Given the description of an element on the screen output the (x, y) to click on. 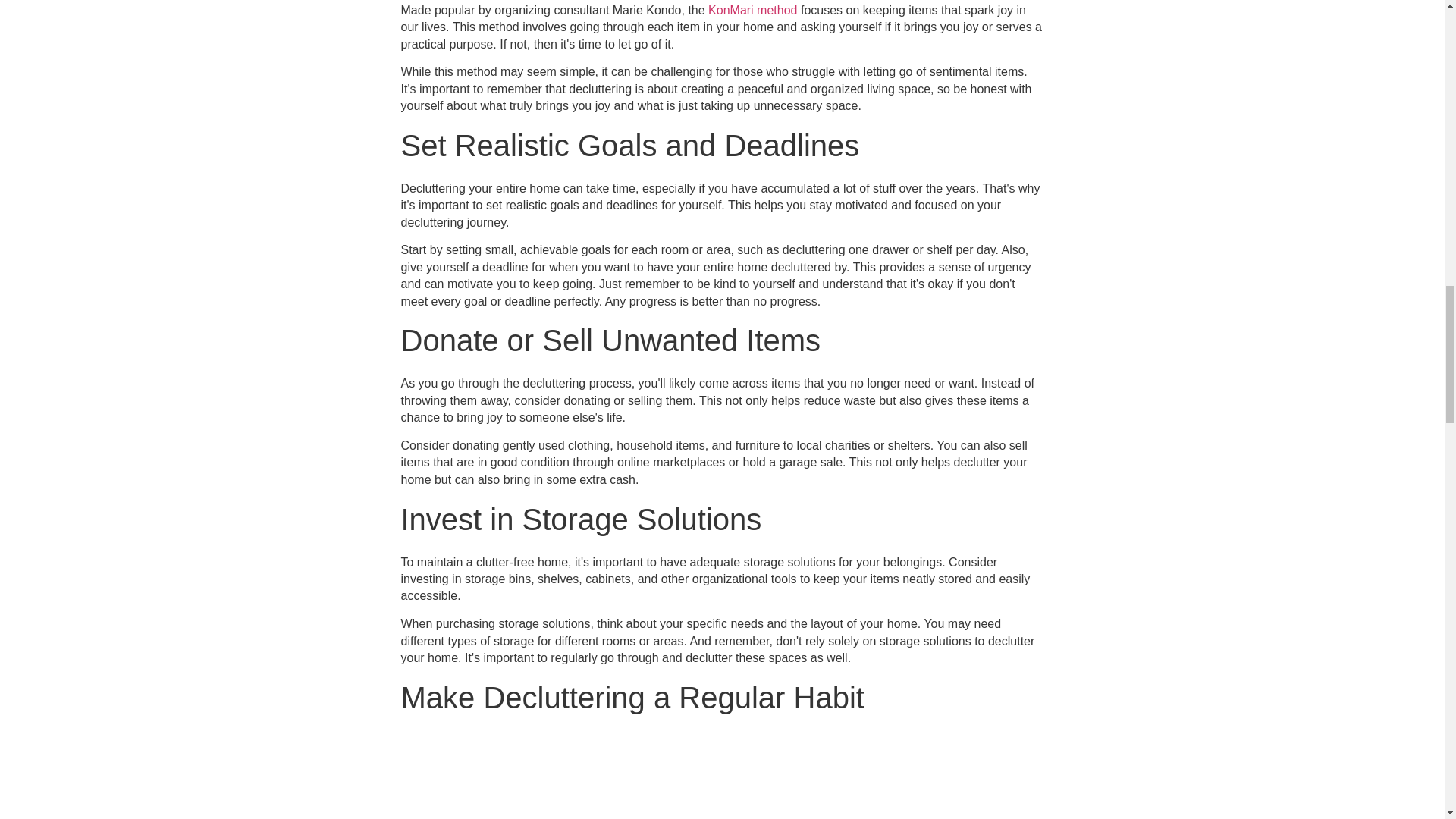
Cosy Living room interior (722, 783)
